Given the description of an element on the screen output the (x, y) to click on. 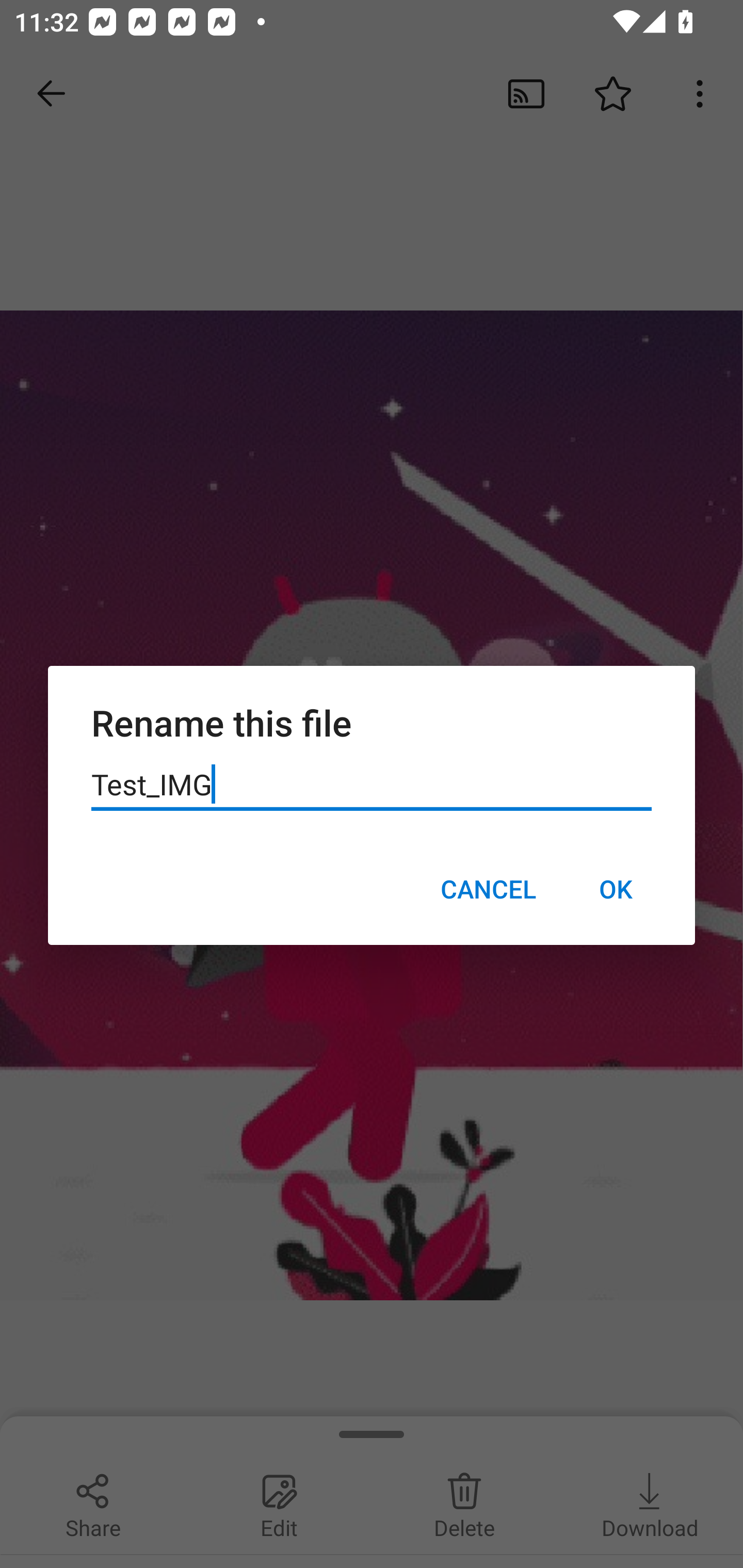
Test_IMG (371, 784)
CANCEL (488, 888)
OK (615, 888)
